Given the description of an element on the screen output the (x, y) to click on. 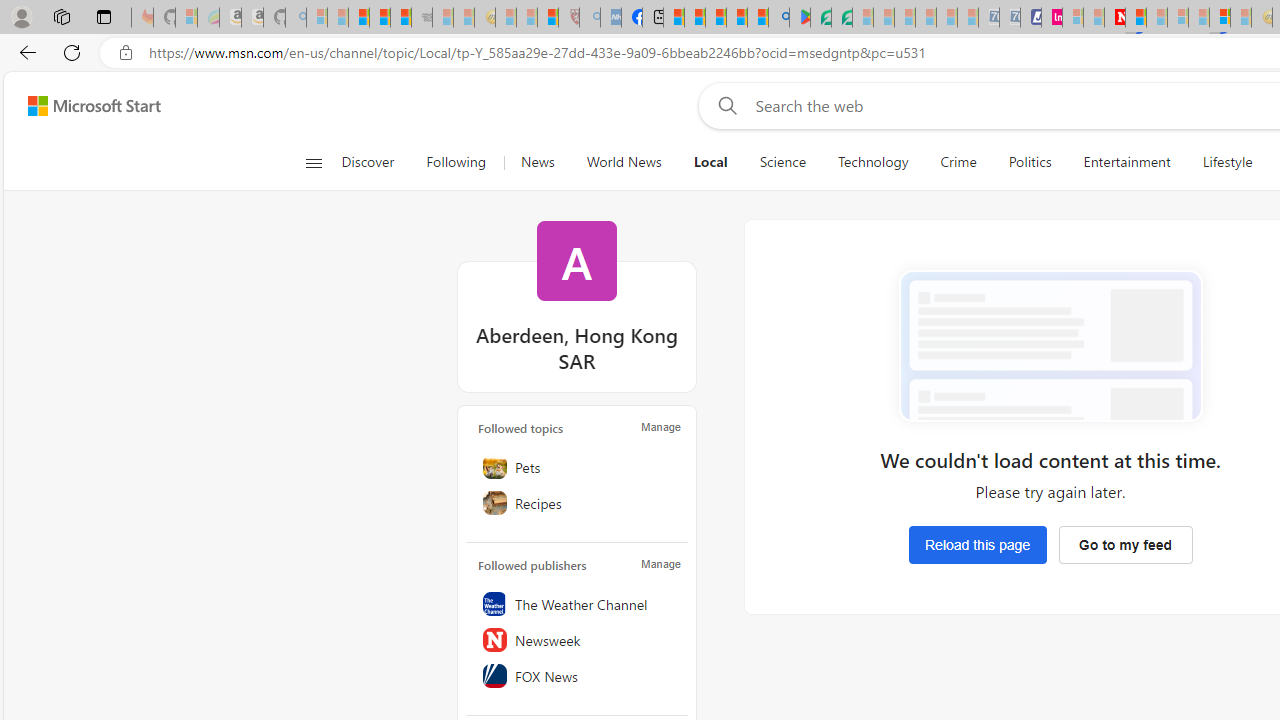
Technology (872, 162)
Combat Siege (422, 17)
14 Common Myths Debunked By Scientific Facts - Sleeping (1156, 17)
Manage (660, 563)
Lifestyle (1227, 162)
Local (710, 162)
Jobs - lastminute.com Investor Portal (1051, 17)
Science (782, 162)
